Given the description of an element on the screen output the (x, y) to click on. 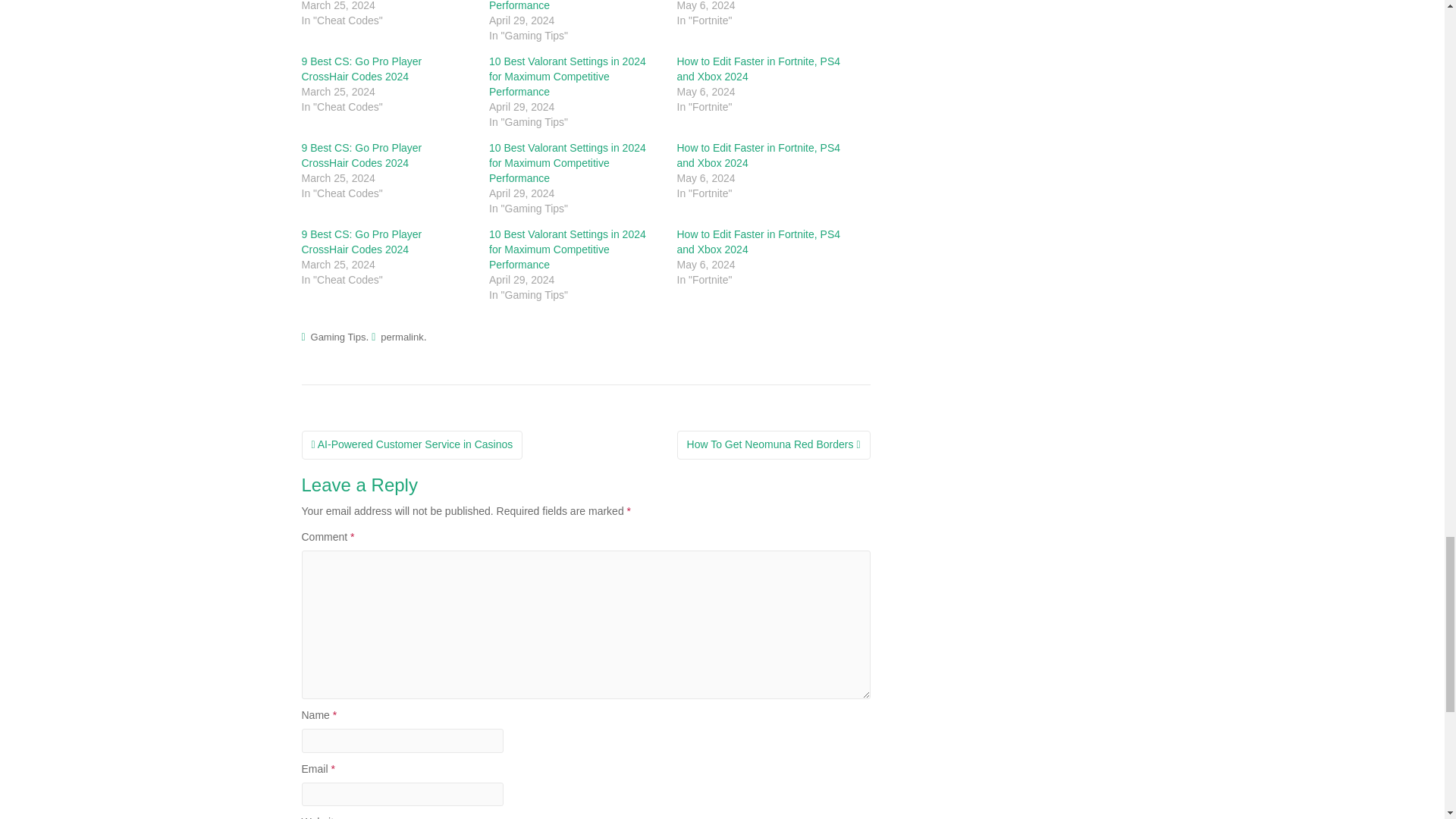
9 Best CS: Go Pro Player CrossHair Codes 2024 (361, 68)
How to Edit Faster in Fortnite, PS4 and Xbox 2024 (758, 154)
How to Edit Faster in Fortnite, PS4 and Xbox 2024 (758, 68)
9 Best CS: Go Pro Player CrossHair Codes 2024 (361, 241)
9 Best CS: Go Pro Player CrossHair Codes 2024 (361, 154)
